Given the description of an element on the screen output the (x, y) to click on. 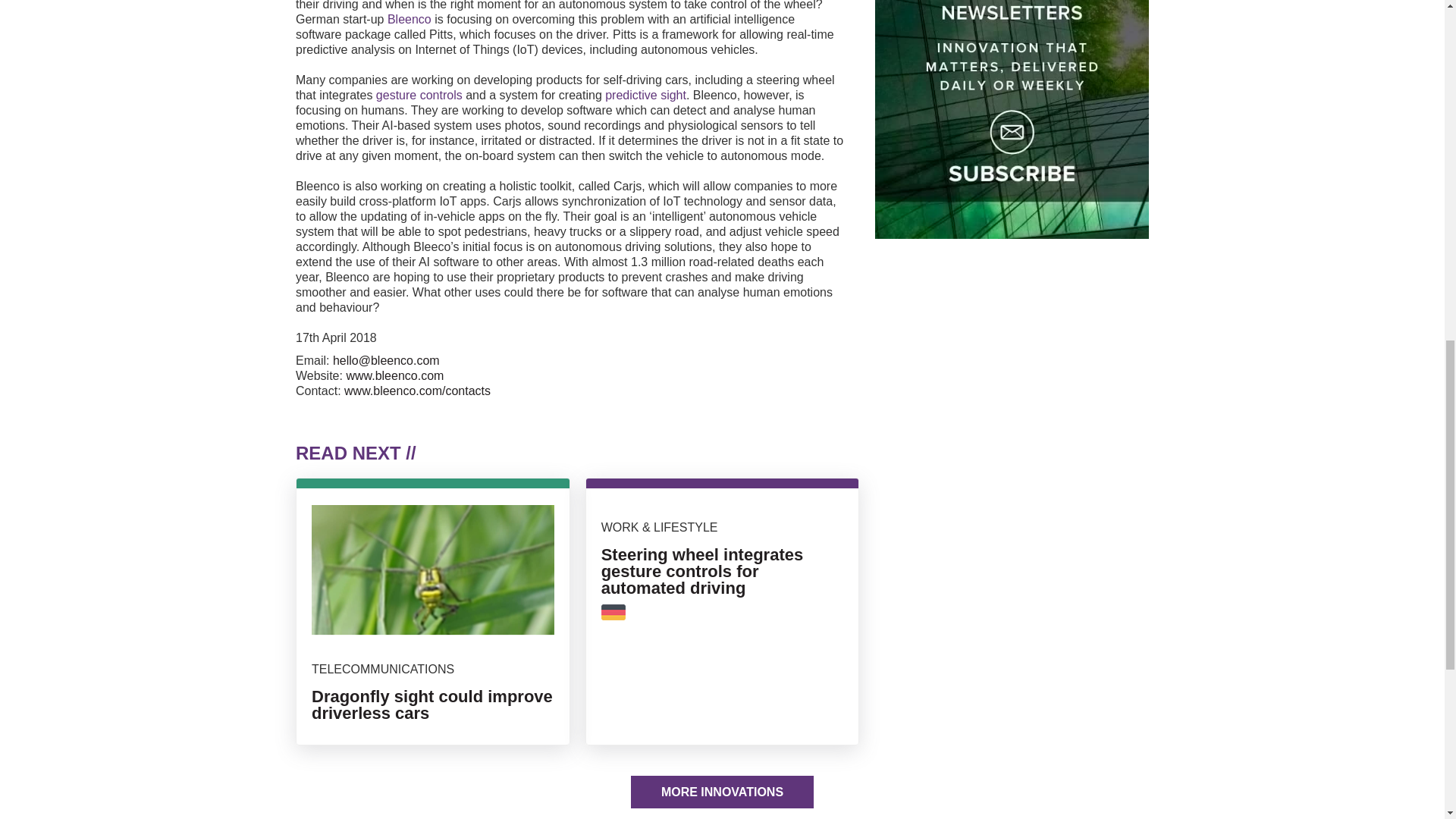
gesture controls (419, 94)
Bleenco (408, 19)
MORE INNOVATIONS (721, 791)
www.bleenco.com (395, 375)
predictive sight (645, 94)
